Given the description of an element on the screen output the (x, y) to click on. 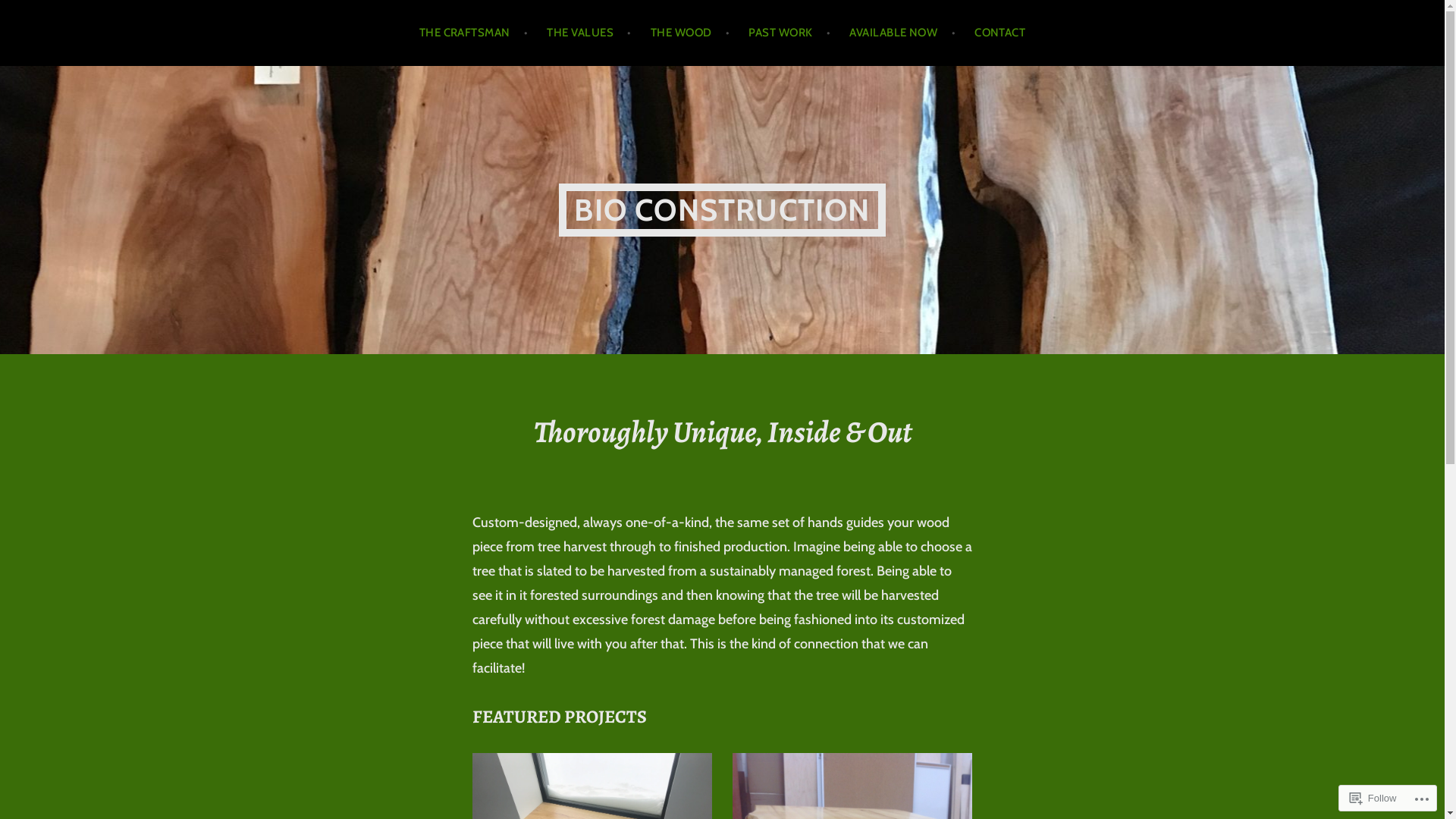
CONTACT Element type: text (999, 32)
BIO CONSTRUCTION Element type: text (721, 209)
THE VALUES Element type: text (588, 32)
THE WOOD Element type: text (690, 32)
AVAILABLE NOW Element type: text (902, 32)
THE CRAFTSMAN Element type: text (473, 32)
Follow Element type: text (1372, 797)
PAST WORK Element type: text (789, 32)
